Given the description of an element on the screen output the (x, y) to click on. 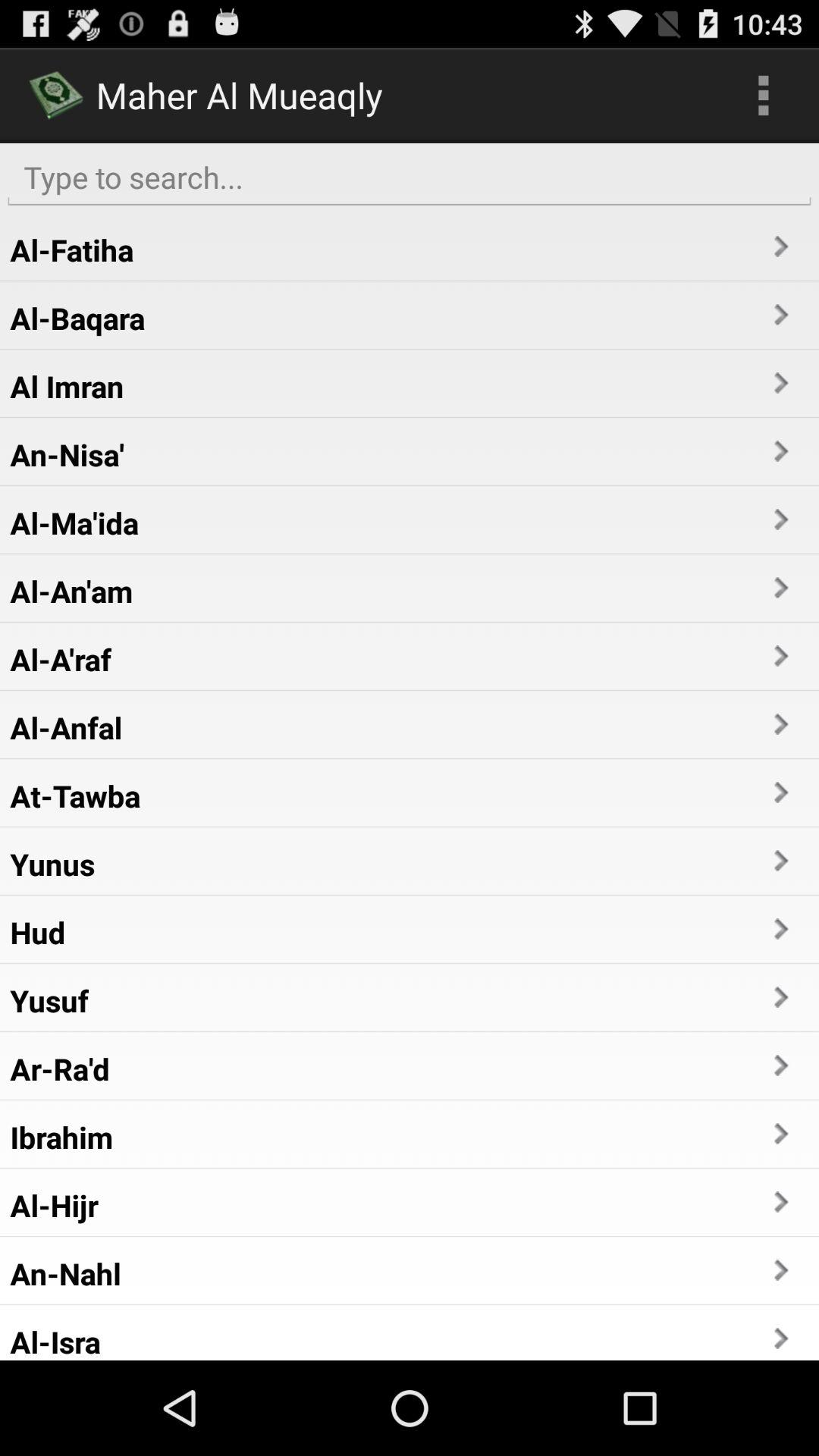
choose app to the right of the yunus item (779, 860)
